Given the description of an element on the screen output the (x, y) to click on. 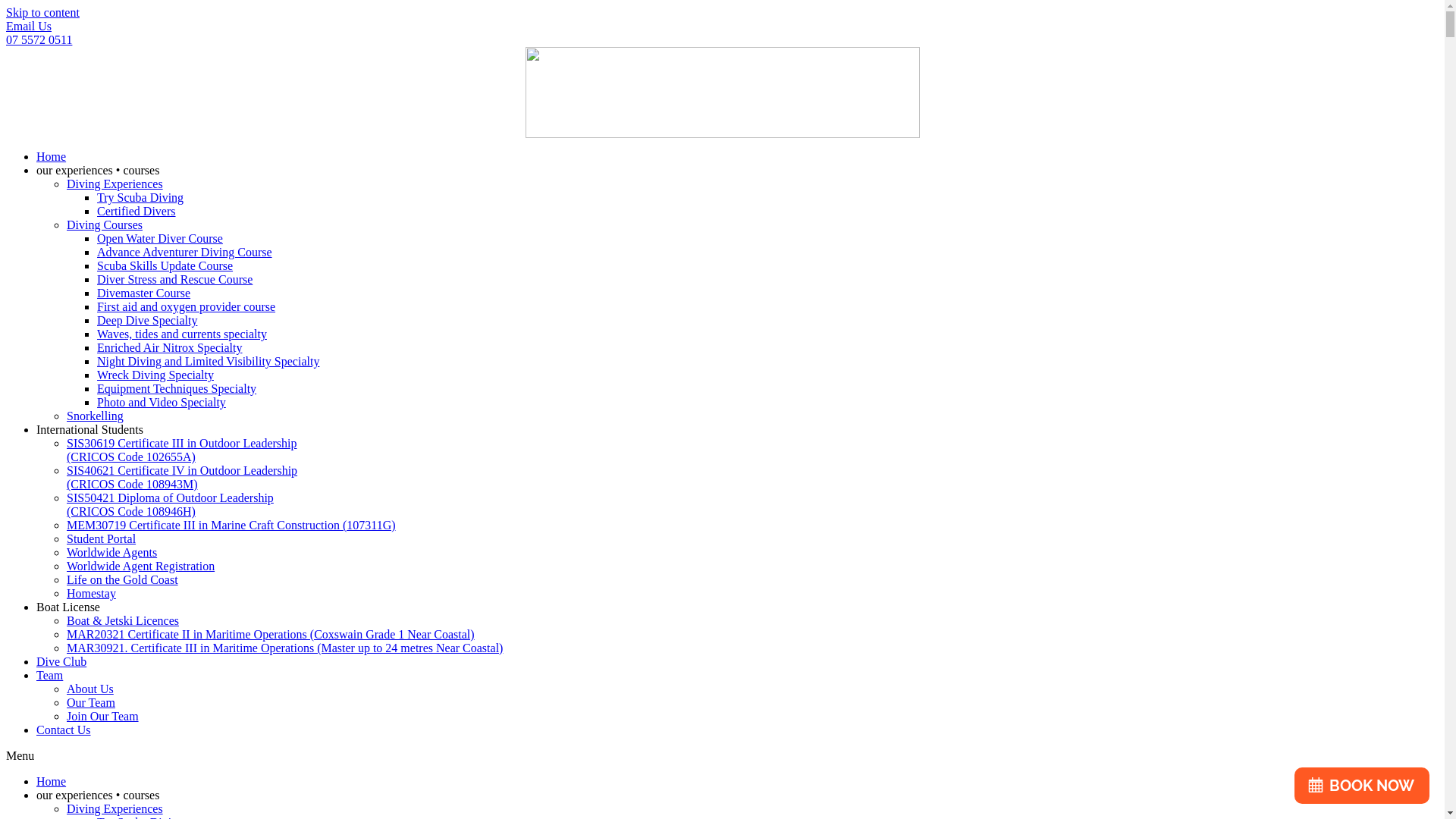
BOOK NOW Element type: text (1361, 785)
Boat & Jetski Licences Element type: text (122, 620)
Worldwide Agents Element type: text (111, 552)
Our Team Element type: text (90, 702)
Worldwide Agent Registration Element type: text (140, 565)
SIS50421 Diploma of Outdoor Leadership
(CRICOS Code 108946H) Element type: text (169, 504)
Diving Experiences Element type: text (114, 808)
Divemaster Course Element type: text (143, 292)
Equipment Techniques Specialty Element type: text (176, 388)
Photo and Video Specialty Element type: text (161, 401)
Advance Adventurer Diving Course Element type: text (184, 251)
Diving Experiences Element type: text (114, 183)
07 5572 0511 Element type: text (39, 39)
Snorkelling Element type: text (94, 415)
Deep Dive Specialty Element type: text (147, 319)
First aid and oxygen provider course Element type: text (186, 306)
Life on the Gold Coast Element type: text (122, 579)
Scuba Skills Update Course Element type: text (164, 265)
Home Element type: text (50, 156)
Diver Stress and Rescue Course Element type: text (174, 279)
Enriched Air Nitrox Specialty Element type: text (169, 347)
Wreck Diving Specialty Element type: text (155, 374)
Homestay Element type: text (91, 592)
Team Element type: text (49, 674)
Skip to content Element type: text (42, 12)
Diving Courses Element type: text (104, 224)
Night Diving and Limited Visibility Specialty Element type: text (208, 360)
Home Element type: text (50, 781)
Try Scuba Diving Element type: text (140, 197)
Certified Divers Element type: text (136, 210)
Student Portal Element type: text (100, 538)
International Students Element type: text (89, 429)
Boat License Element type: text (68, 606)
Dive Club Element type: text (61, 661)
Open Water Diver Course Element type: text (159, 238)
Email Us Element type: text (28, 25)
Waves, tides and currents specialty Element type: text (181, 333)
Join Our Team Element type: text (102, 715)
Contact Us Element type: text (63, 729)
About Us Element type: text (89, 688)
